Given the description of an element on the screen output the (x, y) to click on. 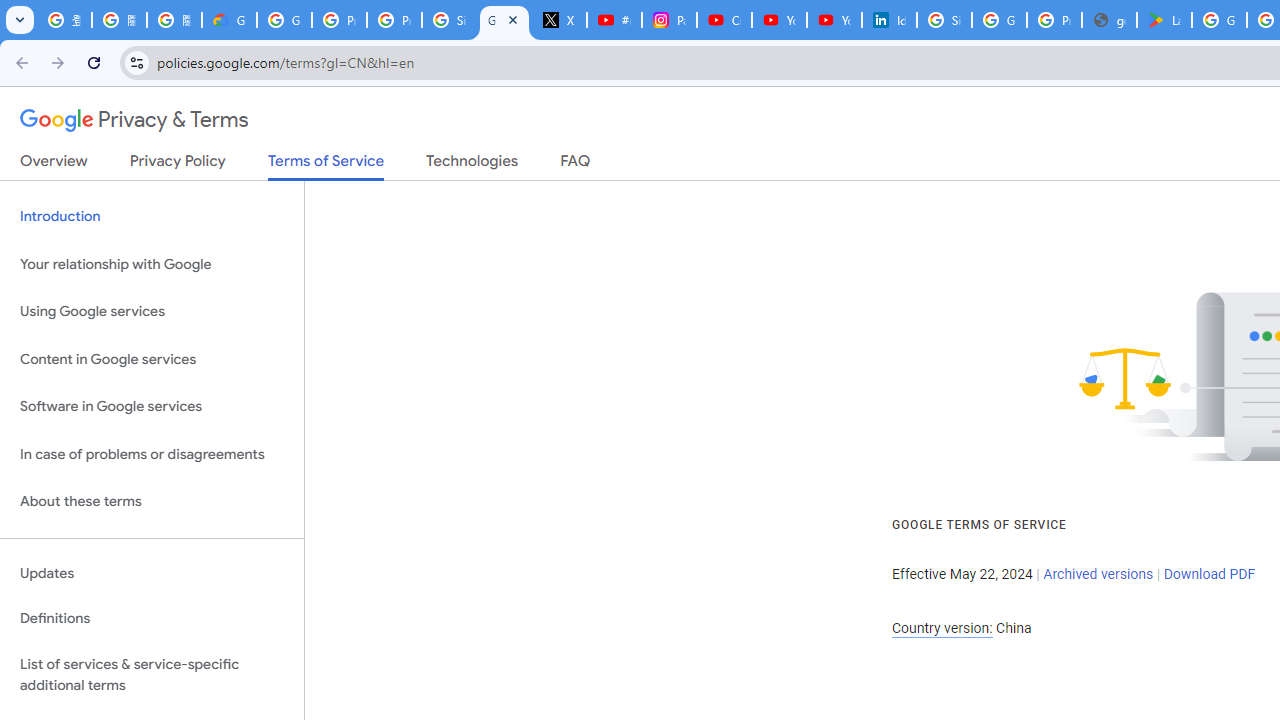
YouTube Culture & Trends - YouTube Top 10, 2021 (833, 20)
List of services & service-specific additional terms (152, 674)
Download PDF (1209, 574)
